Given the description of an element on the screen output the (x, y) to click on. 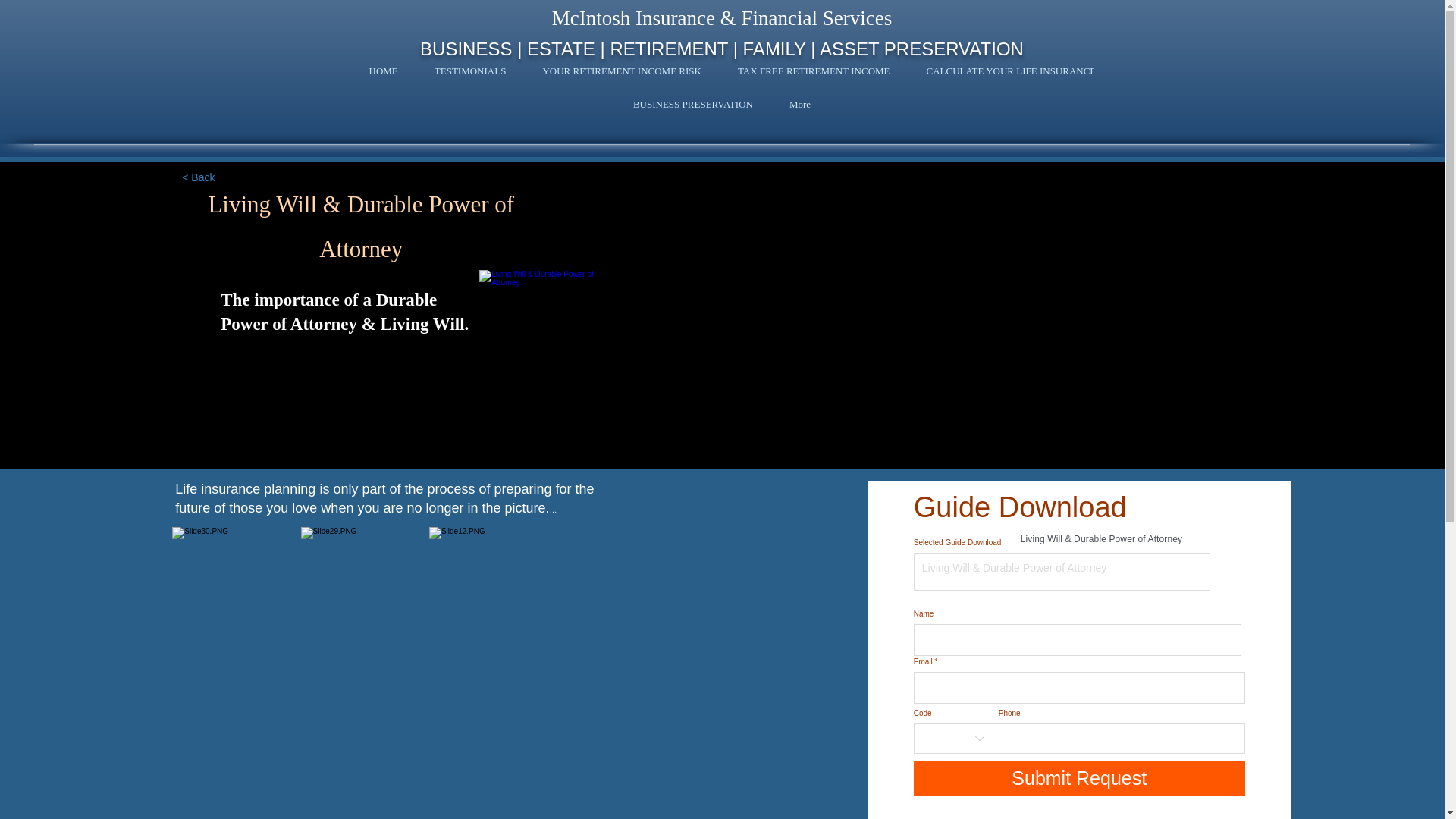
Submit Request (1079, 778)
YOUR RETIREMENT INCOME RISK (621, 75)
HOME (382, 75)
CALCULATE YOUR LIFE INSURANCE PLANNING (1037, 75)
TESTIMONIALS (470, 75)
TAX FREE RETIREMENT INCOME (813, 75)
POA and Living Will.jpg (537, 348)
